Given the description of an element on the screen output the (x, y) to click on. 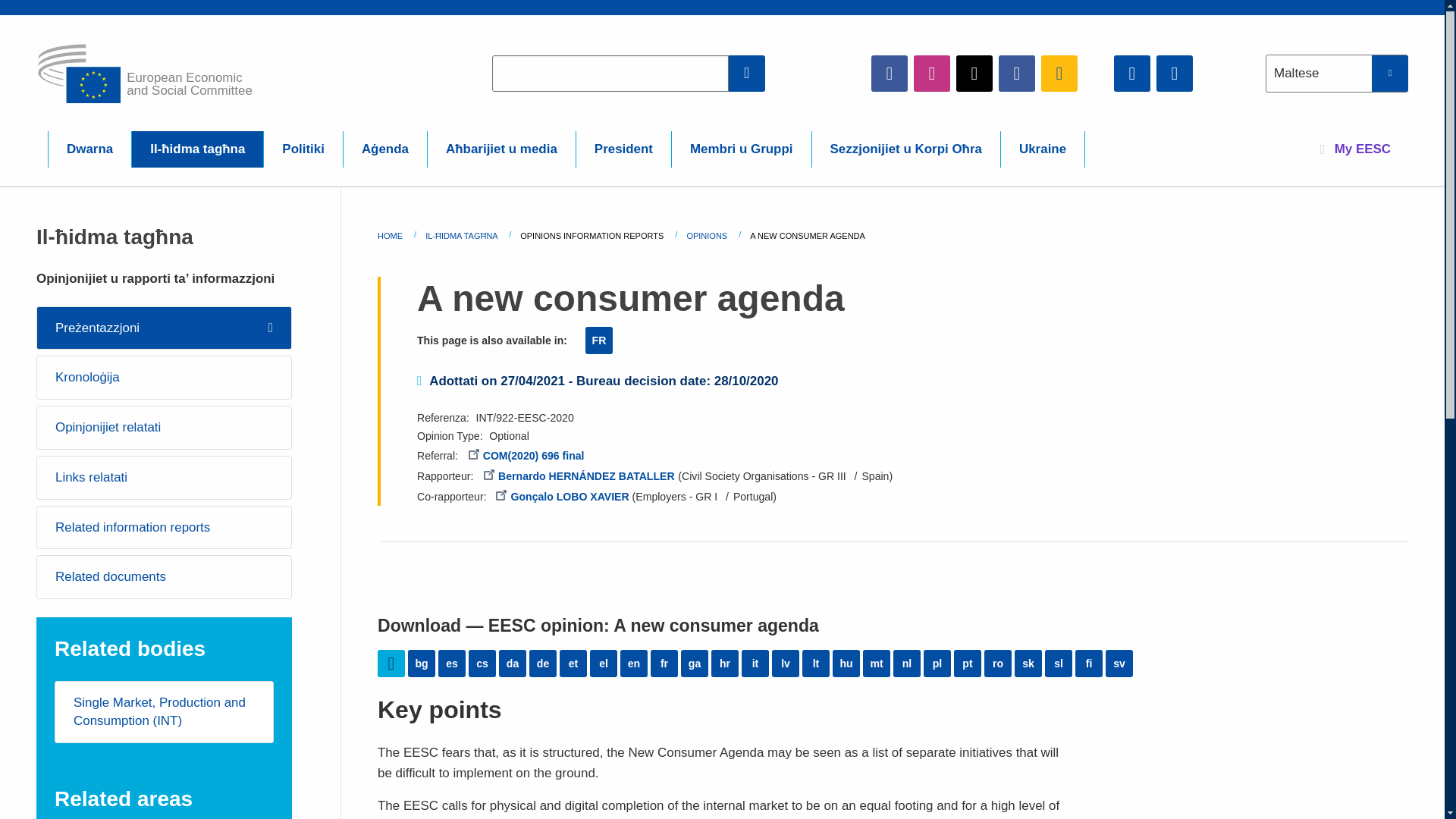
My EESC (1355, 149)
Search EESC Website (747, 72)
